Given the description of an element on the screen output the (x, y) to click on. 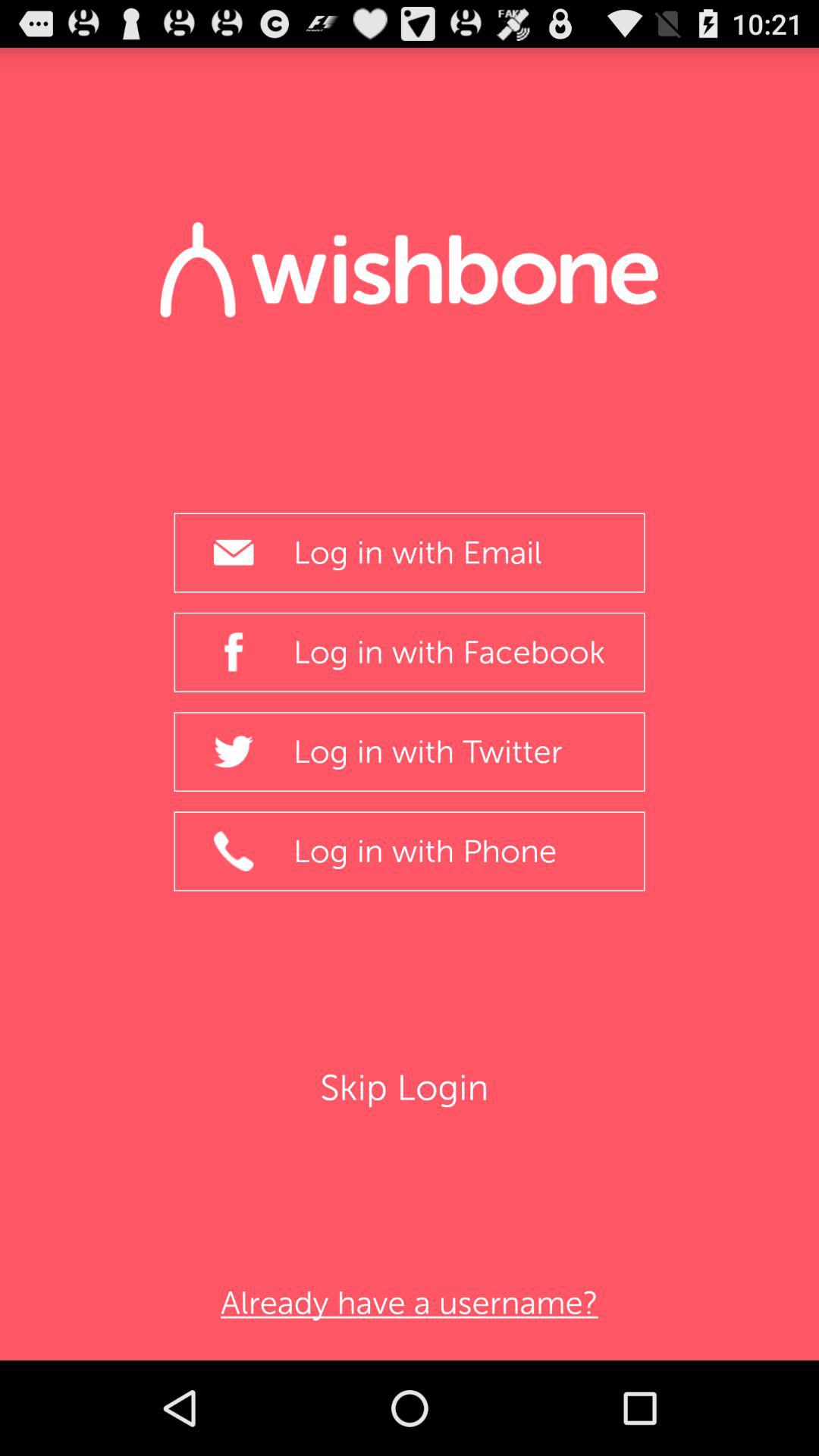
flip to skip login (409, 1087)
